Given the description of an element on the screen output the (x, y) to click on. 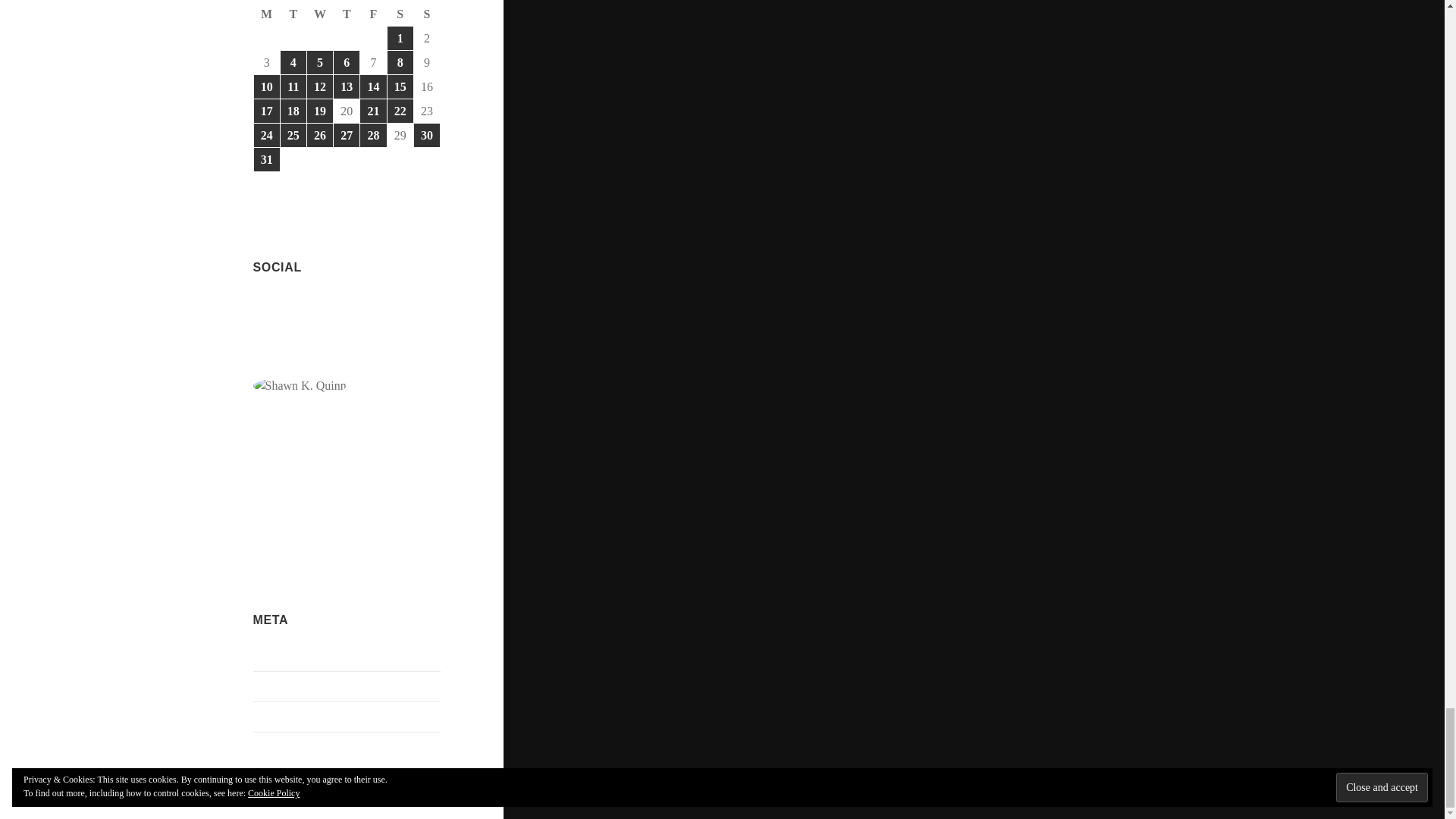
Wednesday (320, 14)
Thursday (346, 14)
Monday (267, 14)
Saturday (400, 14)
Tuesday (294, 14)
Sunday (427, 14)
Friday (373, 14)
